Given the description of an element on the screen output the (x, y) to click on. 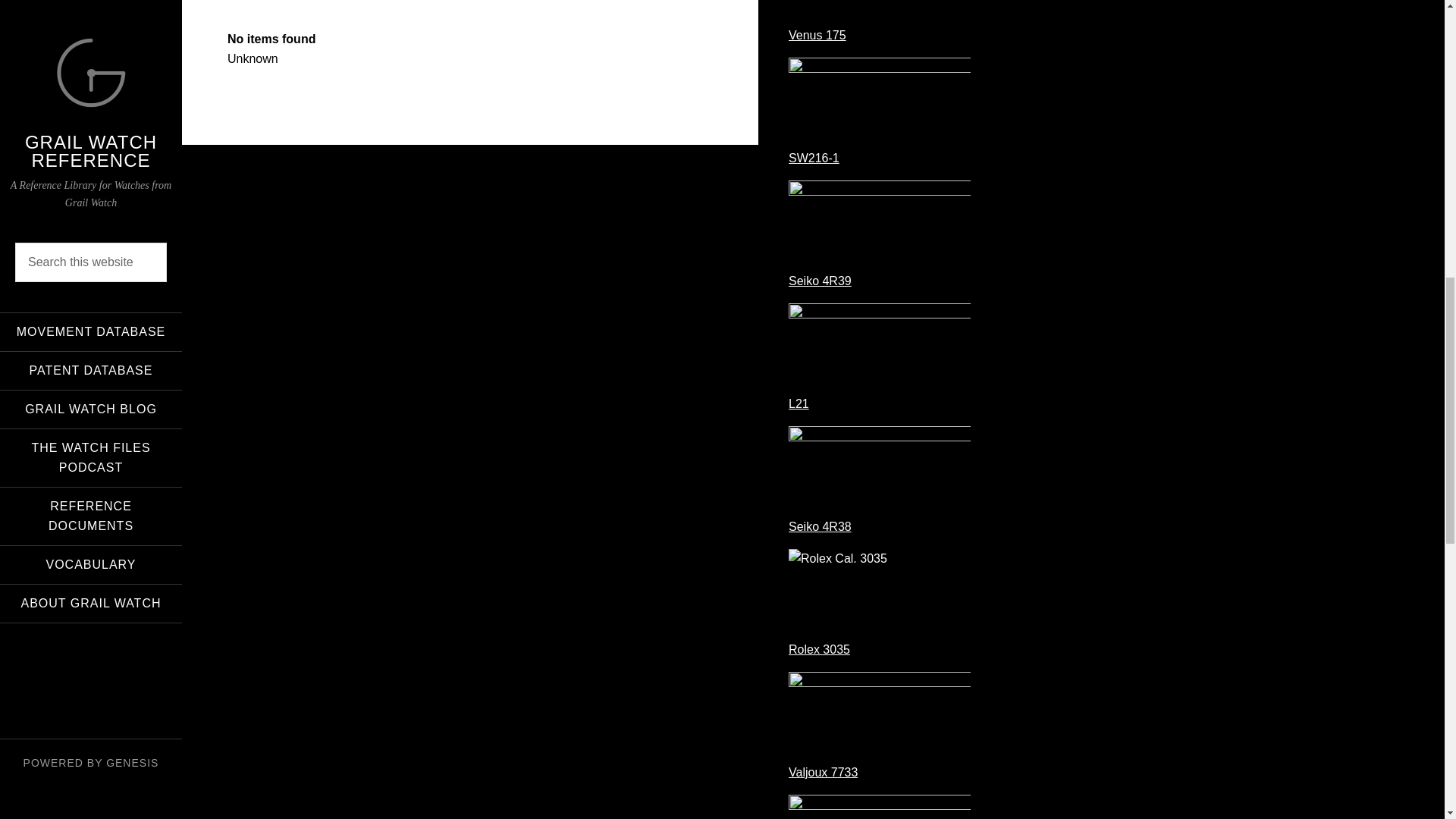
SW216-1 (814, 157)
Seiko 4R39 (820, 280)
Venus 175 (817, 34)
